Given the description of an element on the screen output the (x, y) to click on. 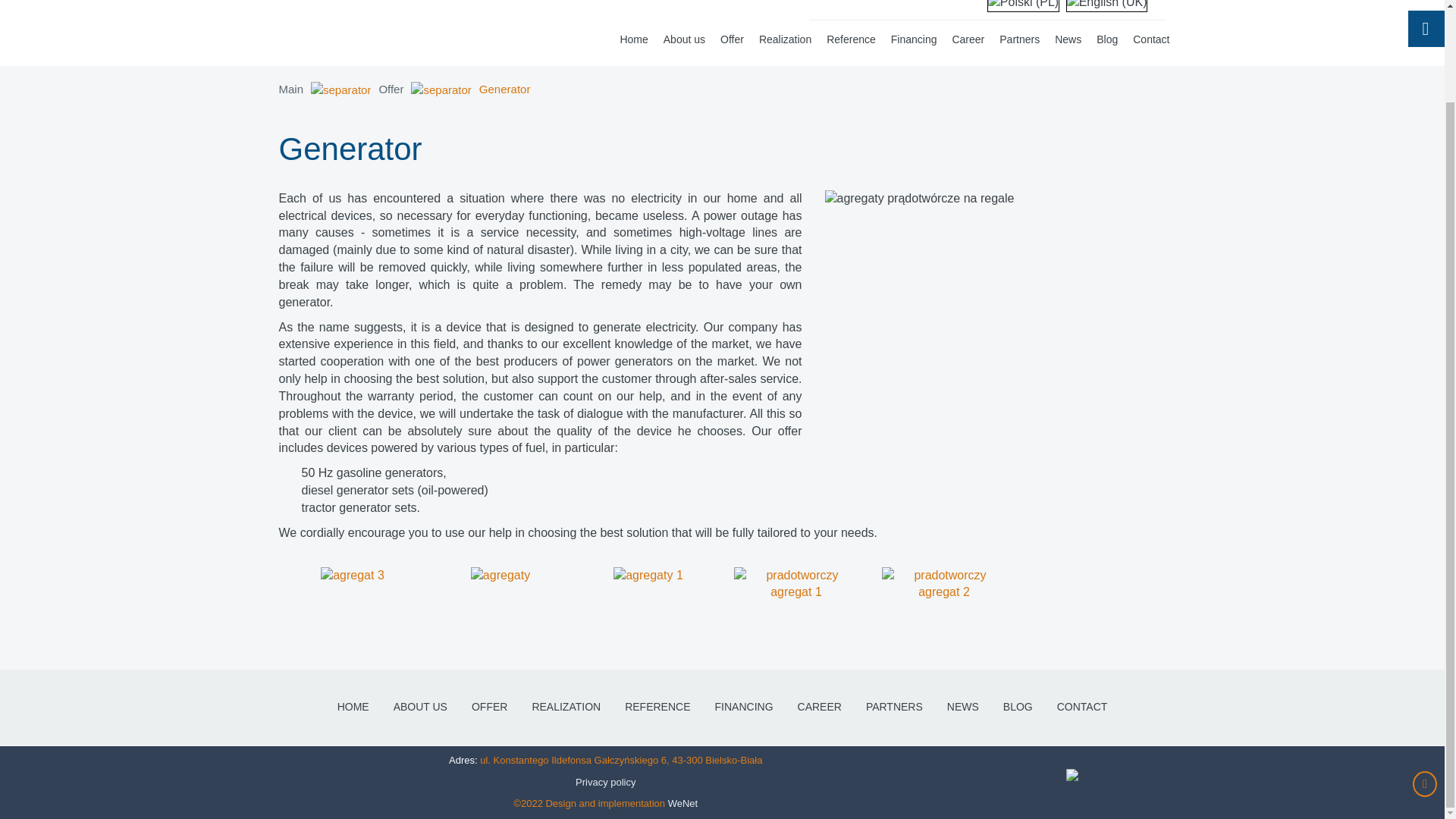
Home (633, 38)
Offer (732, 38)
OFFER (489, 707)
REALIZATION (565, 707)
Career (967, 38)
ABOUT US (419, 707)
Realization (784, 38)
Reference (850, 38)
Blog (1107, 38)
News (1067, 38)
